Given the description of an element on the screen output the (x, y) to click on. 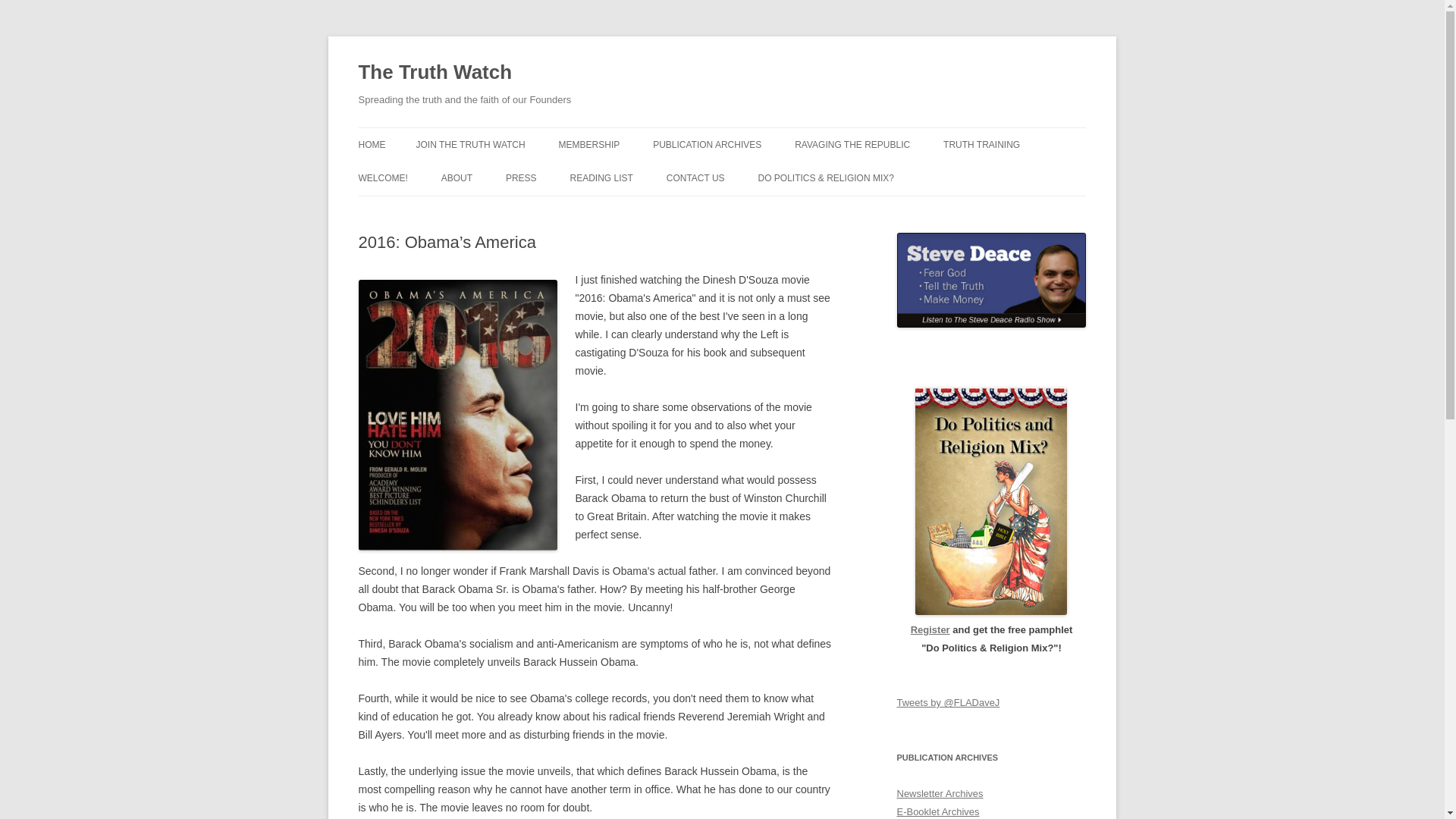
E-Booklet Archives (937, 811)
The Truth Watch (435, 72)
TRUTH TRAINING (981, 144)
PUBLICATION ARCHIVES (706, 144)
E-Booklet Archives (937, 811)
RAVAGING THE REPUBLIC (852, 144)
CONTACT US (695, 177)
JOIN THE TRUTH WATCH (469, 144)
WELCOME! (382, 177)
E-BOOKLET ARCHIVES (728, 176)
